Given the description of an element on the screen output the (x, y) to click on. 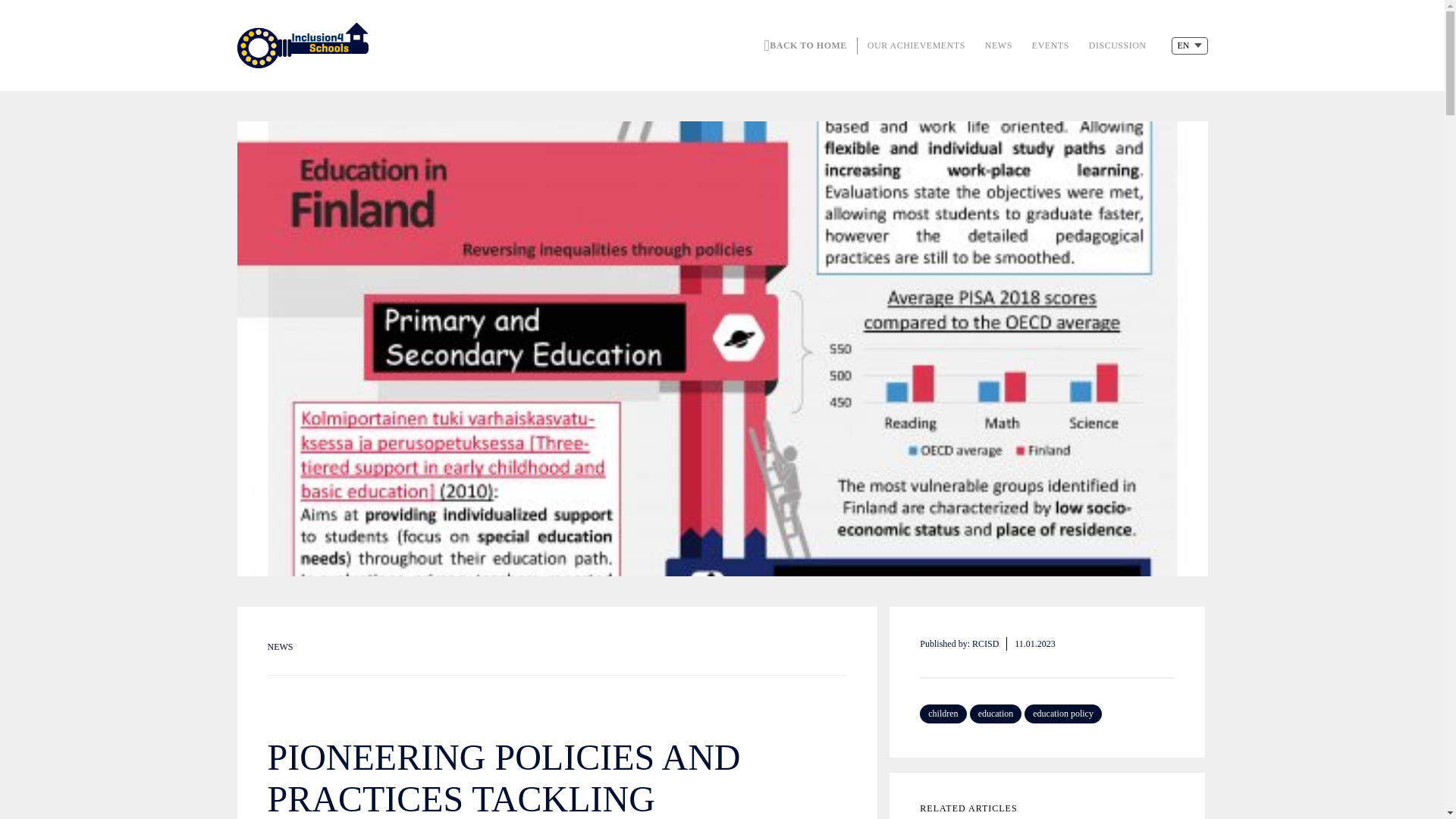
NEWS (998, 44)
education policy (1063, 713)
English (1188, 45)
DISCUSSION (1118, 44)
EVENTS (1050, 44)
education (995, 713)
BACK TO HOME (802, 45)
children (943, 713)
OUR ACHIEVEMENTS (916, 44)
